Given the description of an element on the screen output the (x, y) to click on. 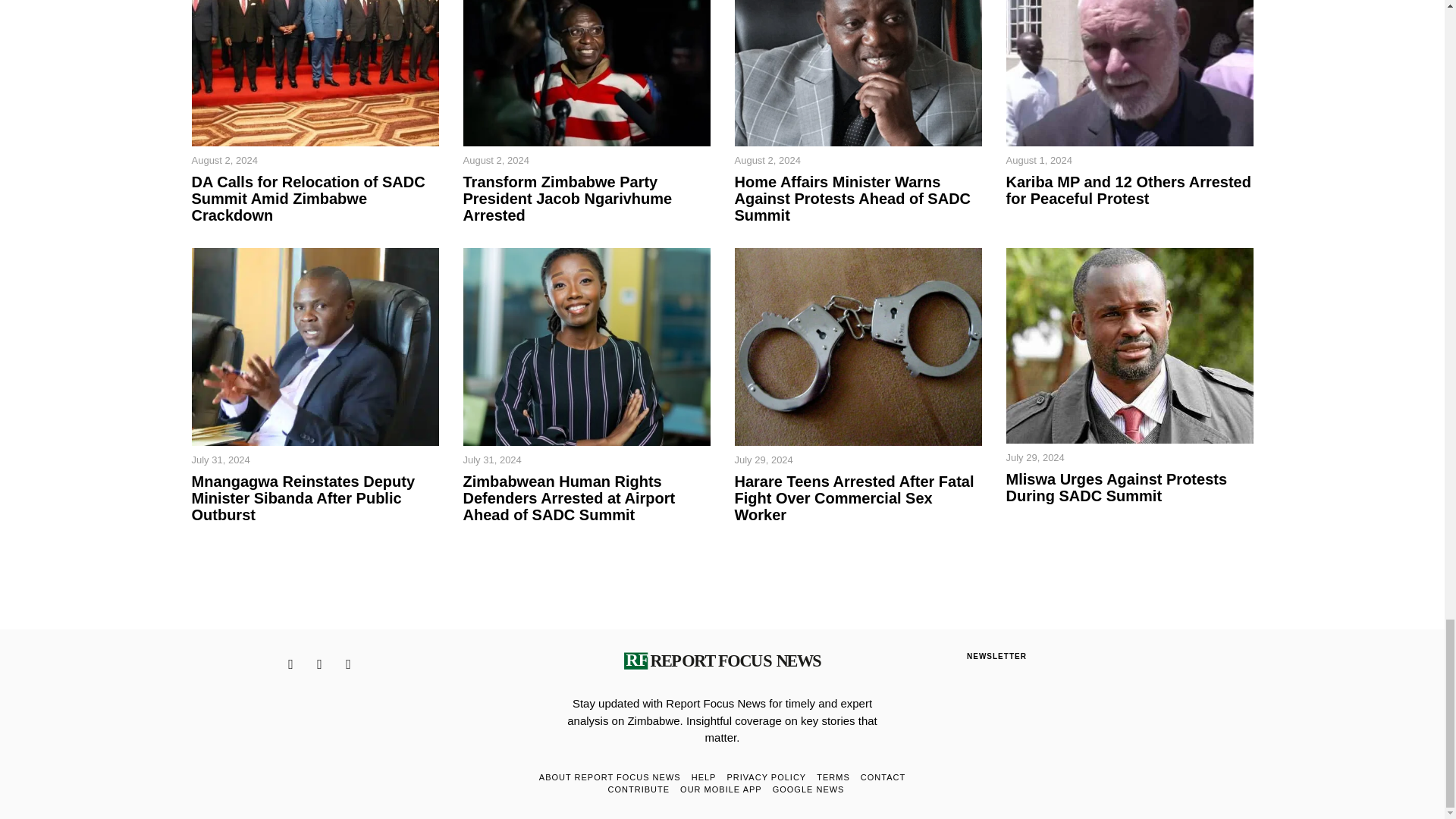
Transform Zimbabwe Party President Jacob Ngarivhume Arrested (586, 198)
02 Aug, 2024 20:57:19 (223, 160)
02 Aug, 2024 17:06:24 (495, 160)
